Given the description of an element on the screen output the (x, y) to click on. 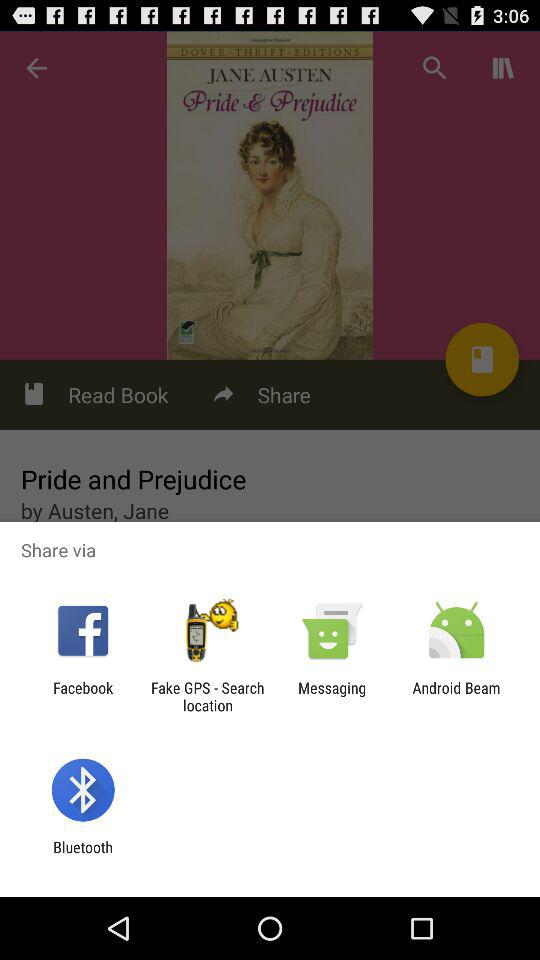
launch the fake gps search item (207, 696)
